Given the description of an element on the screen output the (x, y) to click on. 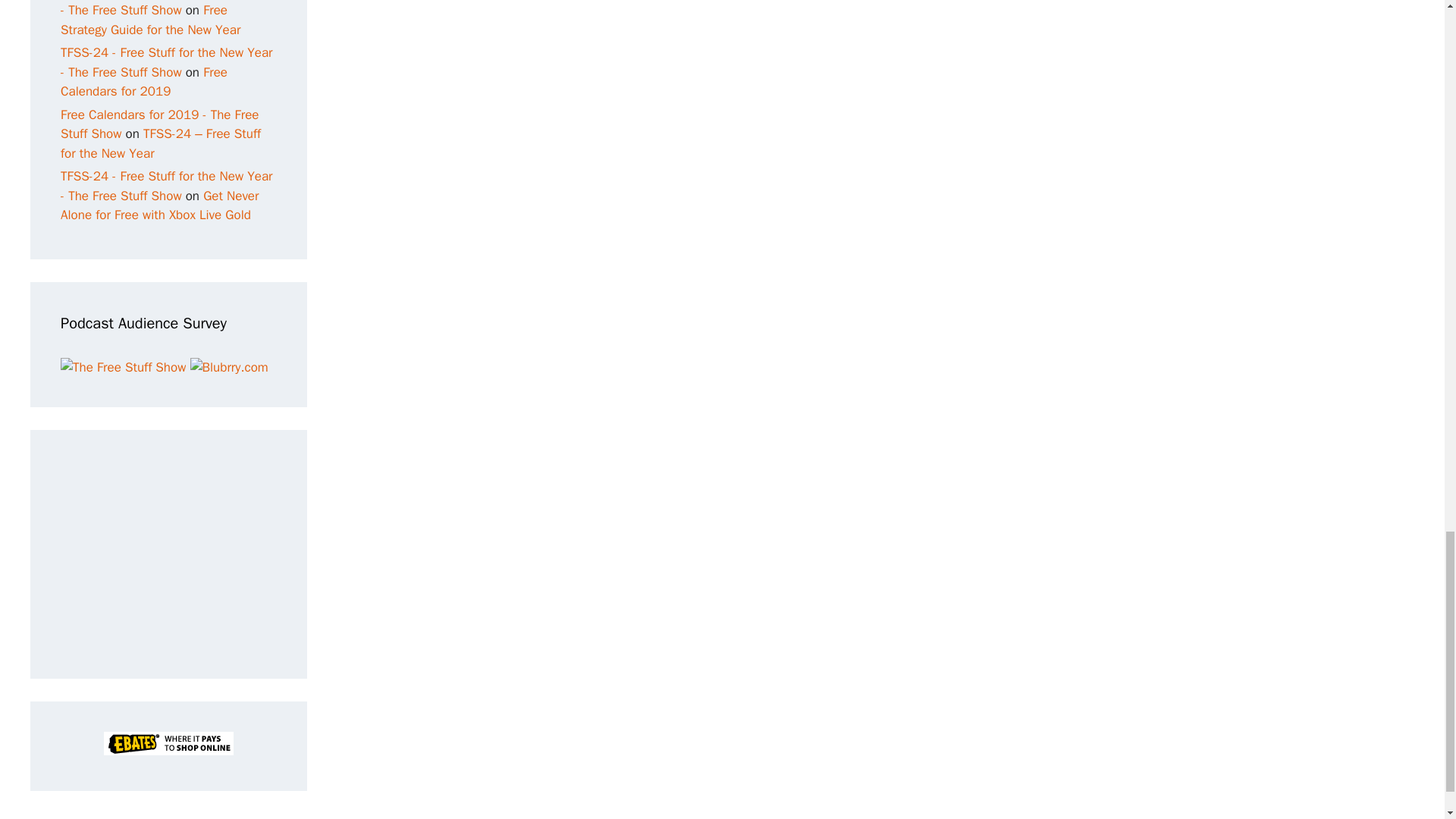
The Free Stuff Show (123, 367)
Blubrry.com (228, 367)
